Given the description of an element on the screen output the (x, y) to click on. 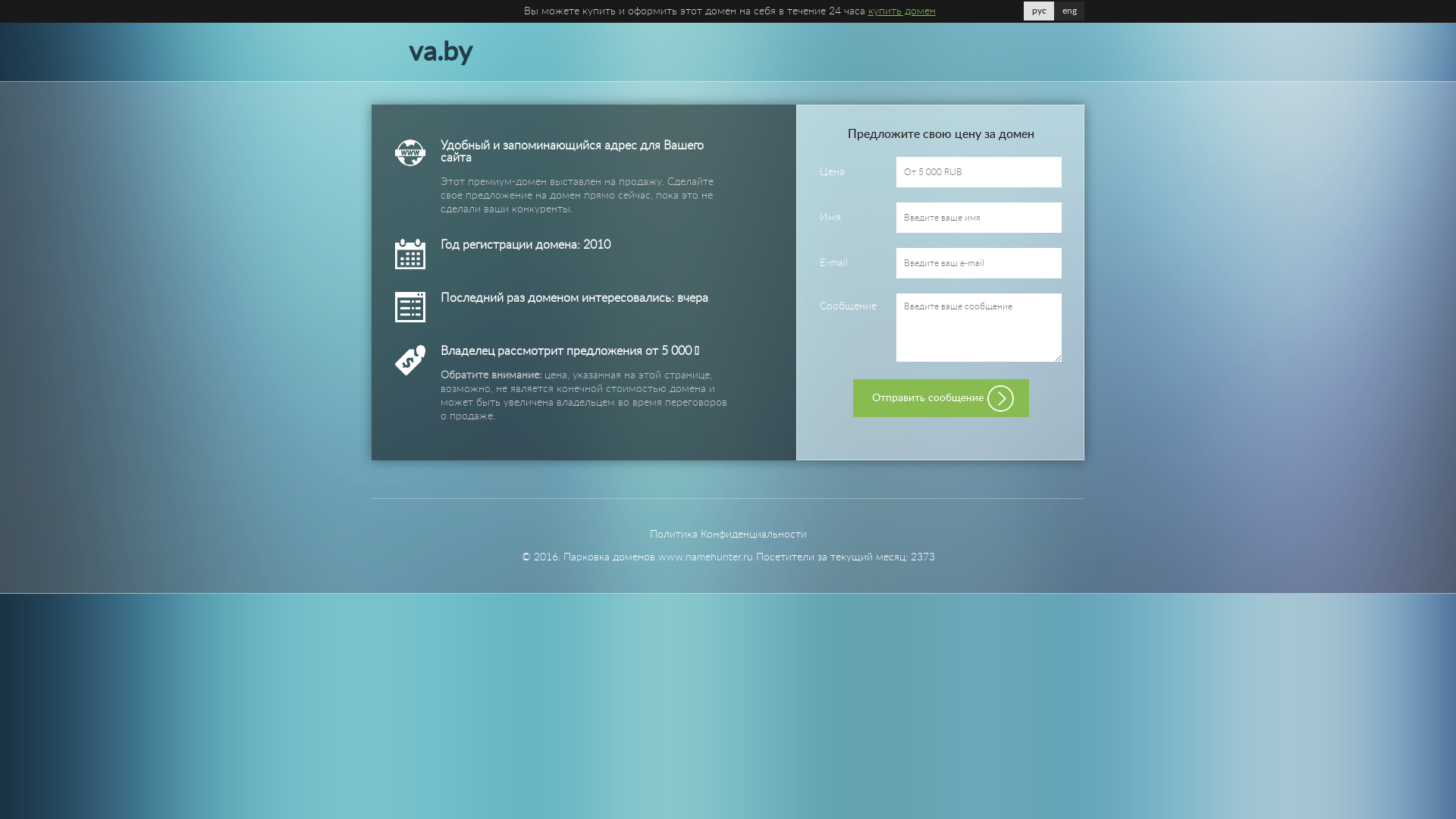
eng Element type: text (1069, 10)
www.namehunter.ru Element type: text (705, 557)
